Given the description of an element on the screen output the (x, y) to click on. 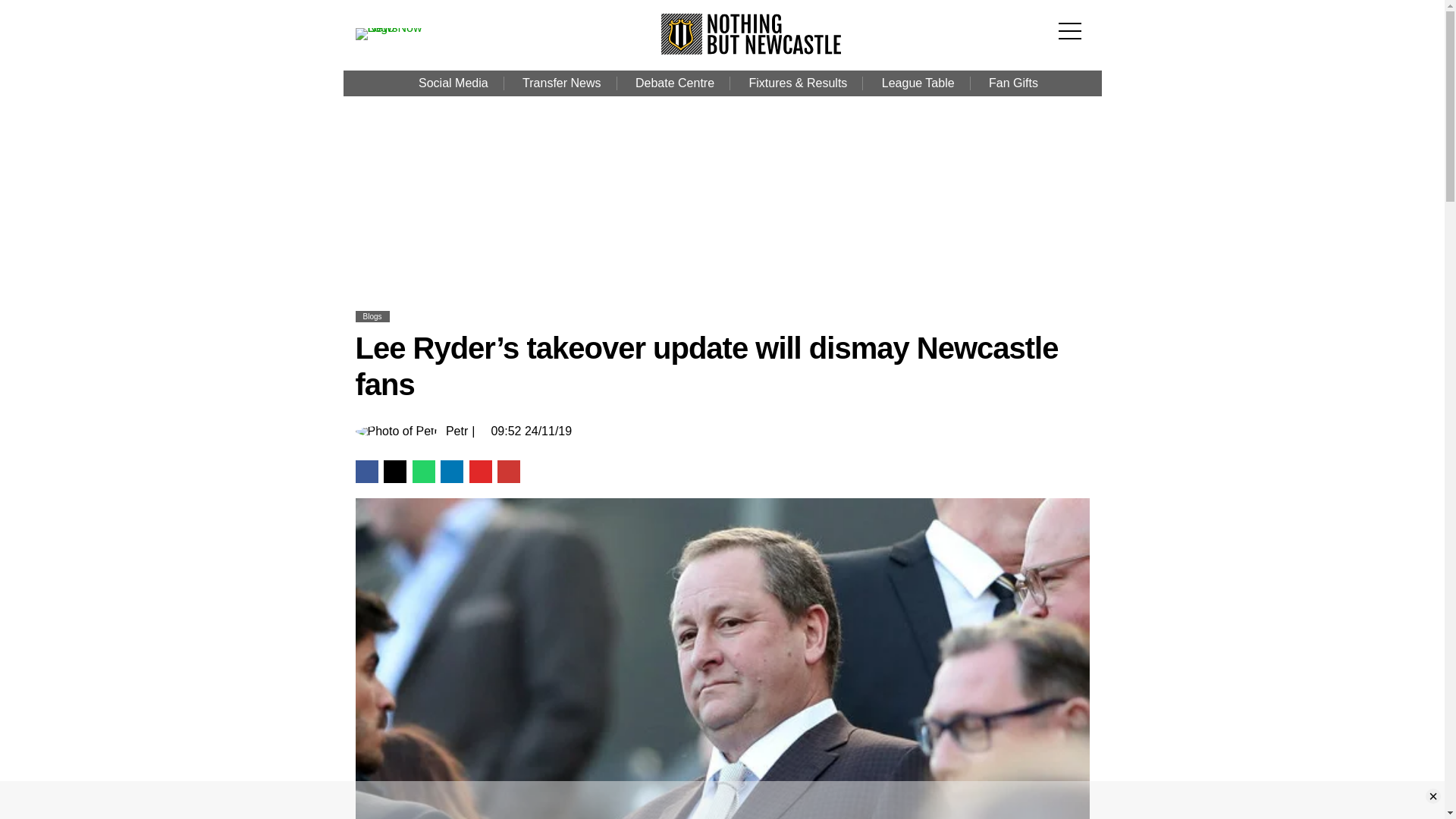
share on Flipboard (480, 471)
Petr (456, 431)
Back to the homepage (752, 50)
share on Facebook (366, 471)
Menu (1074, 21)
Debate Centre (674, 83)
Blogs (371, 316)
League Table (917, 83)
share on Twitter (395, 471)
Social Media (453, 83)
Fan Gifts (1013, 83)
share on Email (508, 471)
Transfer News (560, 83)
share on LinkedIn (452, 471)
share on WhatsApp (423, 471)
